Given the description of an element on the screen output the (x, y) to click on. 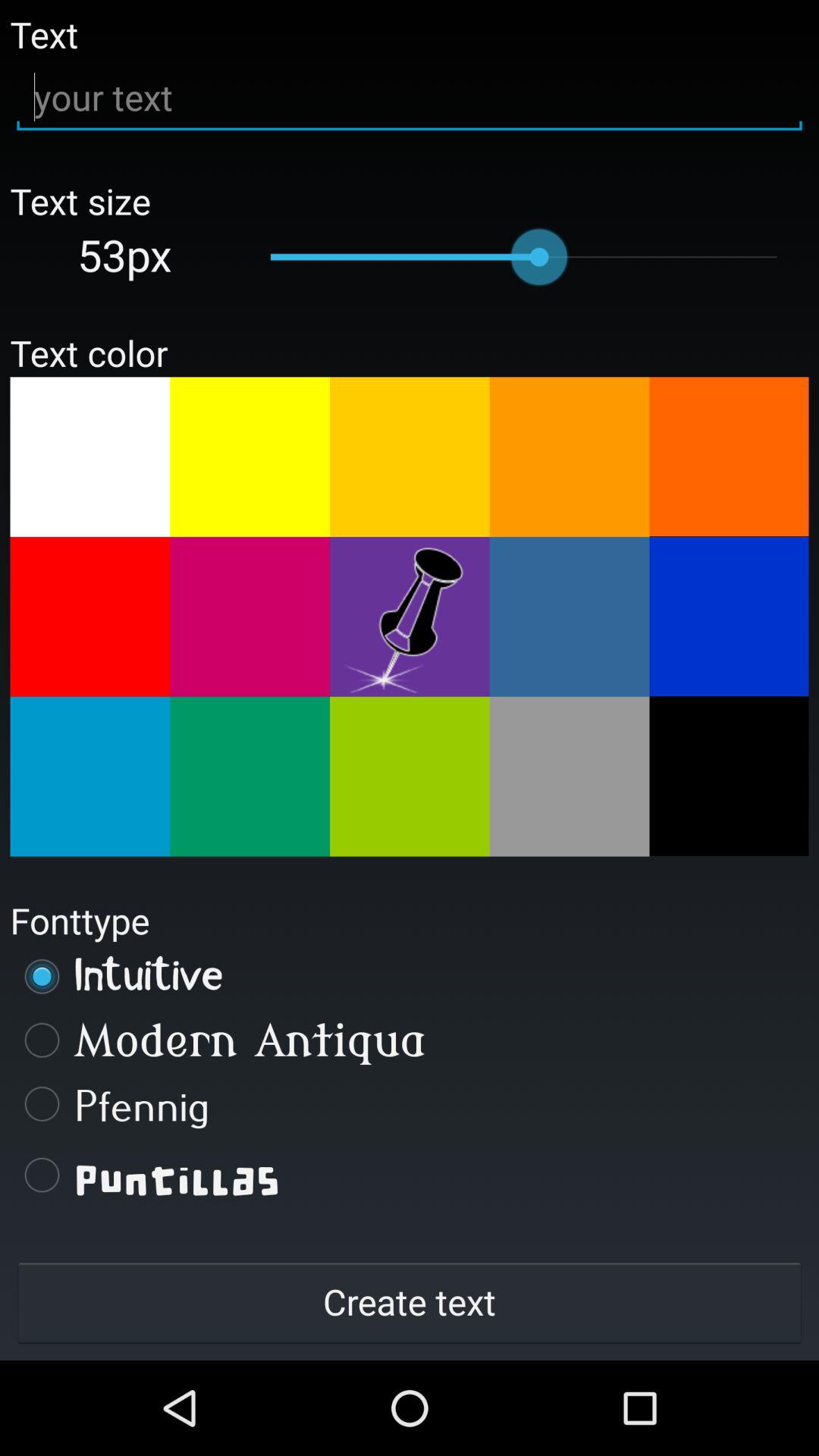
choose text color (249, 616)
